Given the description of an element on the screen output the (x, y) to click on. 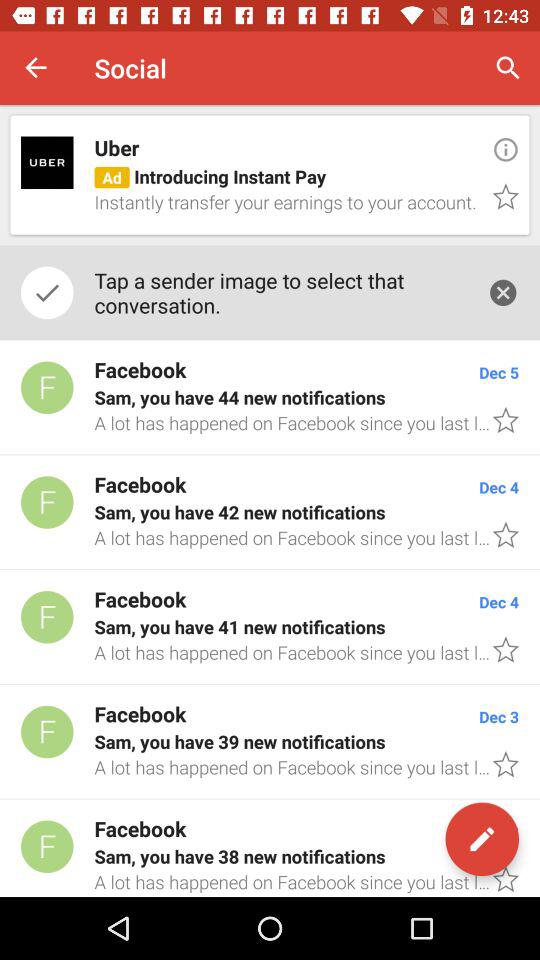
launch item next to the ad introducing instant (505, 149)
